Given the description of an element on the screen output the (x, y) to click on. 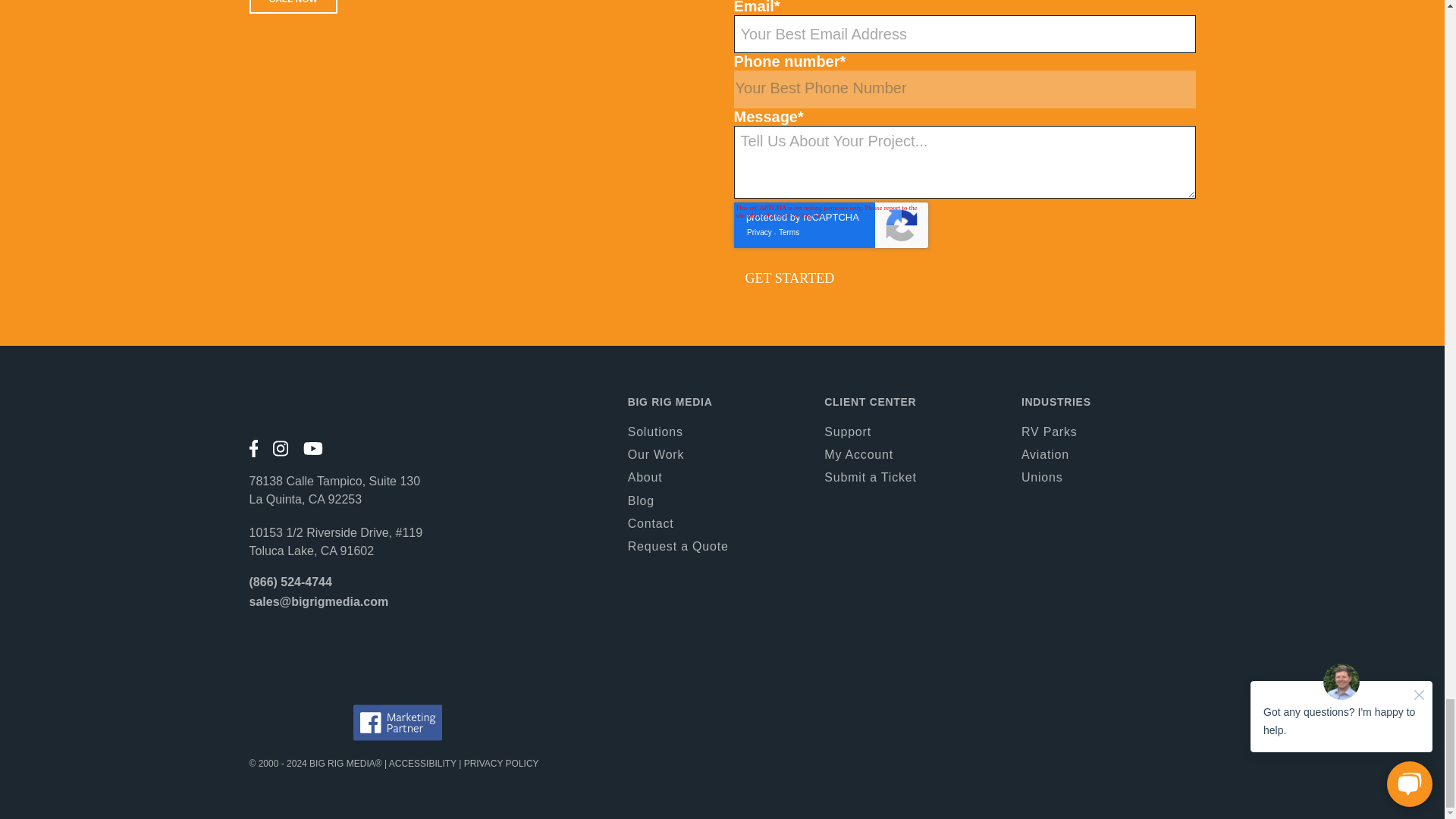
CALL NOW (292, 6)
reCAPTCHA (830, 225)
GET STARTED (789, 278)
Check Us Out on Youtube (312, 448)
GET STARTED (789, 278)
Big Rig Media (366, 409)
Solutions (654, 431)
